Given the description of an element on the screen output the (x, y) to click on. 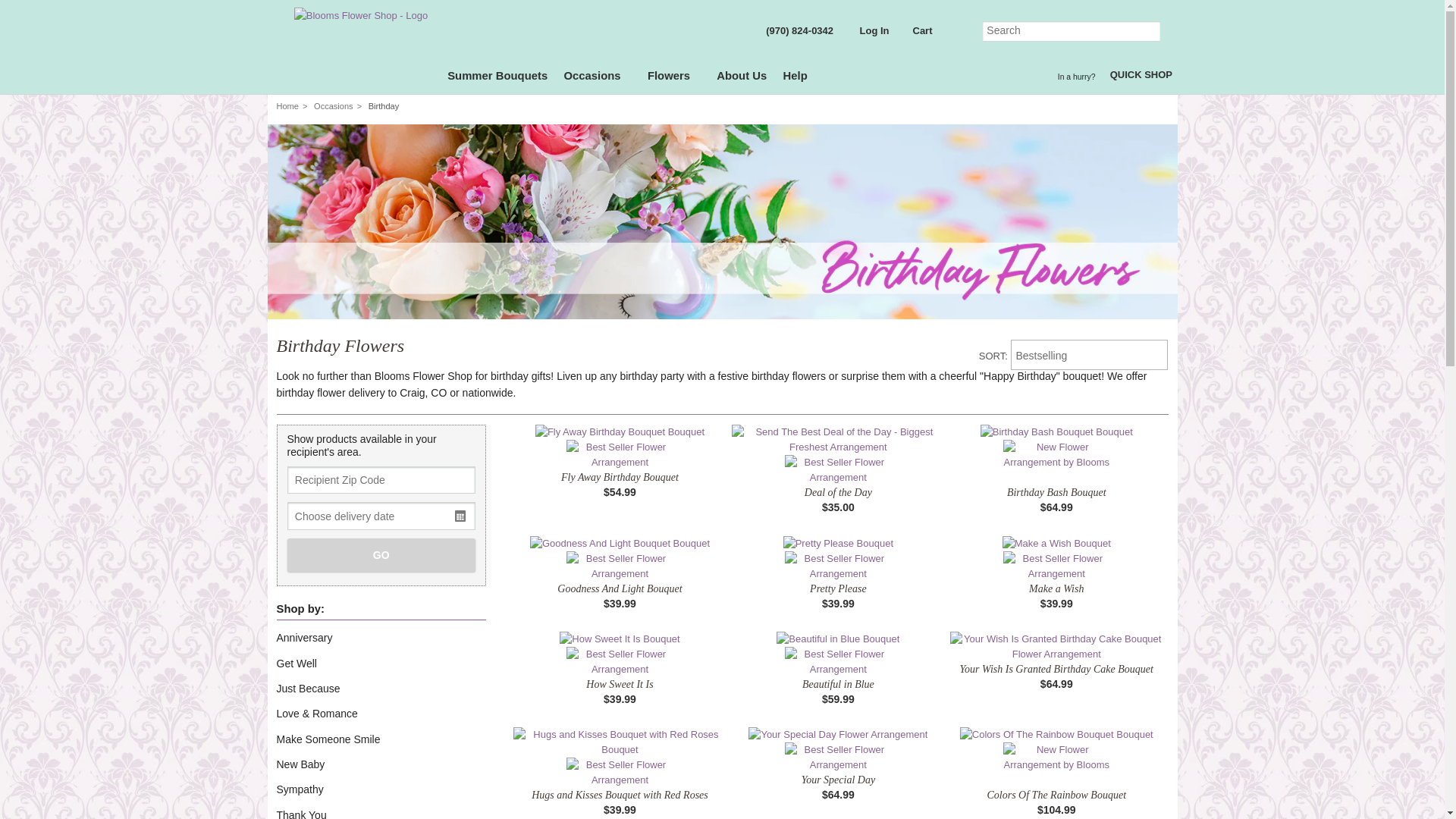
Log In (870, 33)
Flowers (674, 78)
Go (1149, 32)
log In (870, 33)
Quick Shop (1140, 77)
Sort By (1088, 354)
Search (1071, 31)
Summer Bouquets (497, 78)
Cart (919, 36)
GO (380, 554)
Occasions (597, 78)
